Given the description of an element on the screen output the (x, y) to click on. 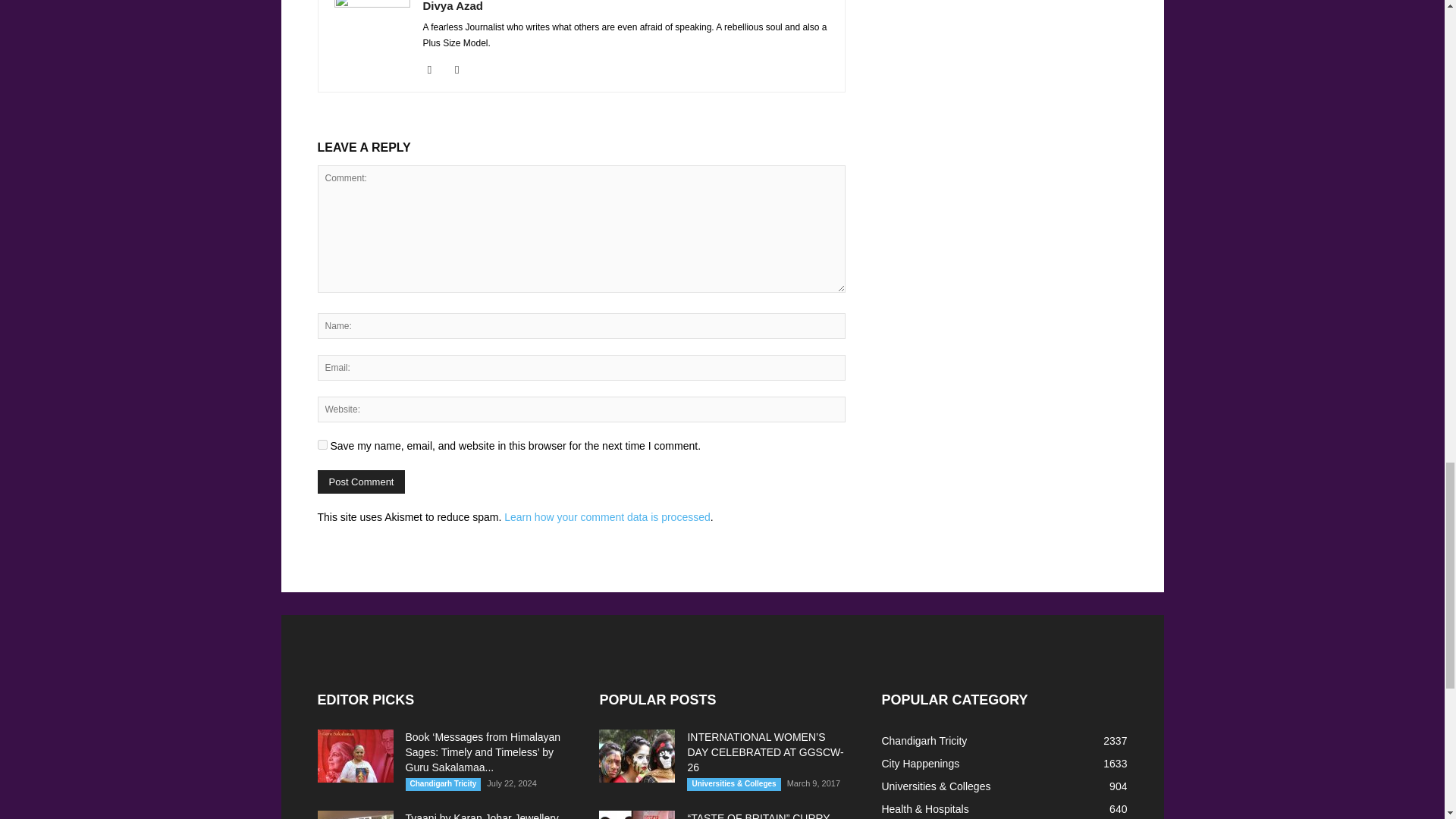
yes (321, 444)
Post Comment (360, 481)
